Given the description of an element on the screen output the (x, y) to click on. 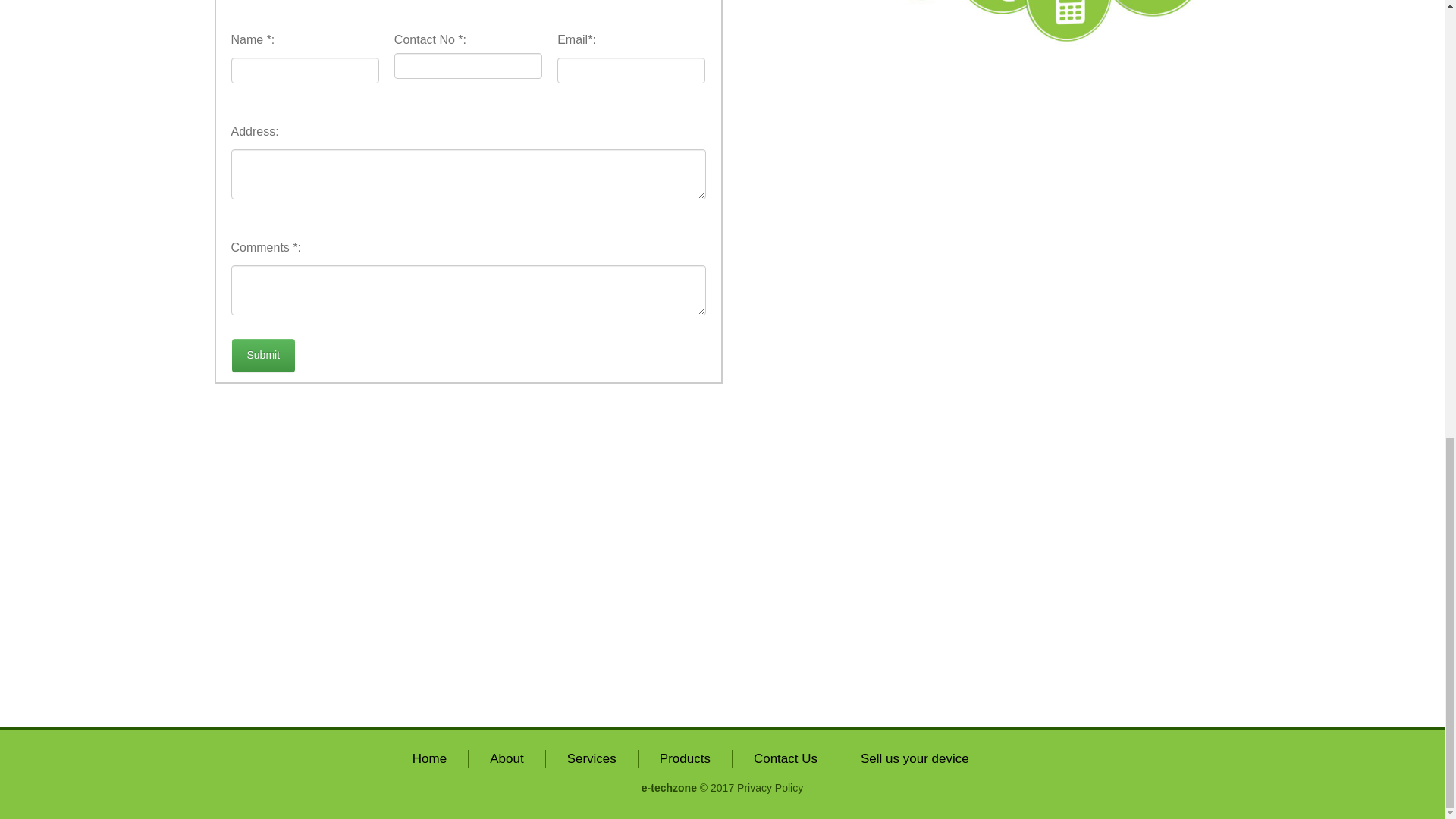
Sell us your device (914, 758)
Submit (263, 355)
Services (591, 758)
Contact Us (785, 758)
Products (684, 758)
Submit (263, 355)
Home (429, 758)
About (505, 758)
